Given the description of an element on the screen output the (x, y) to click on. 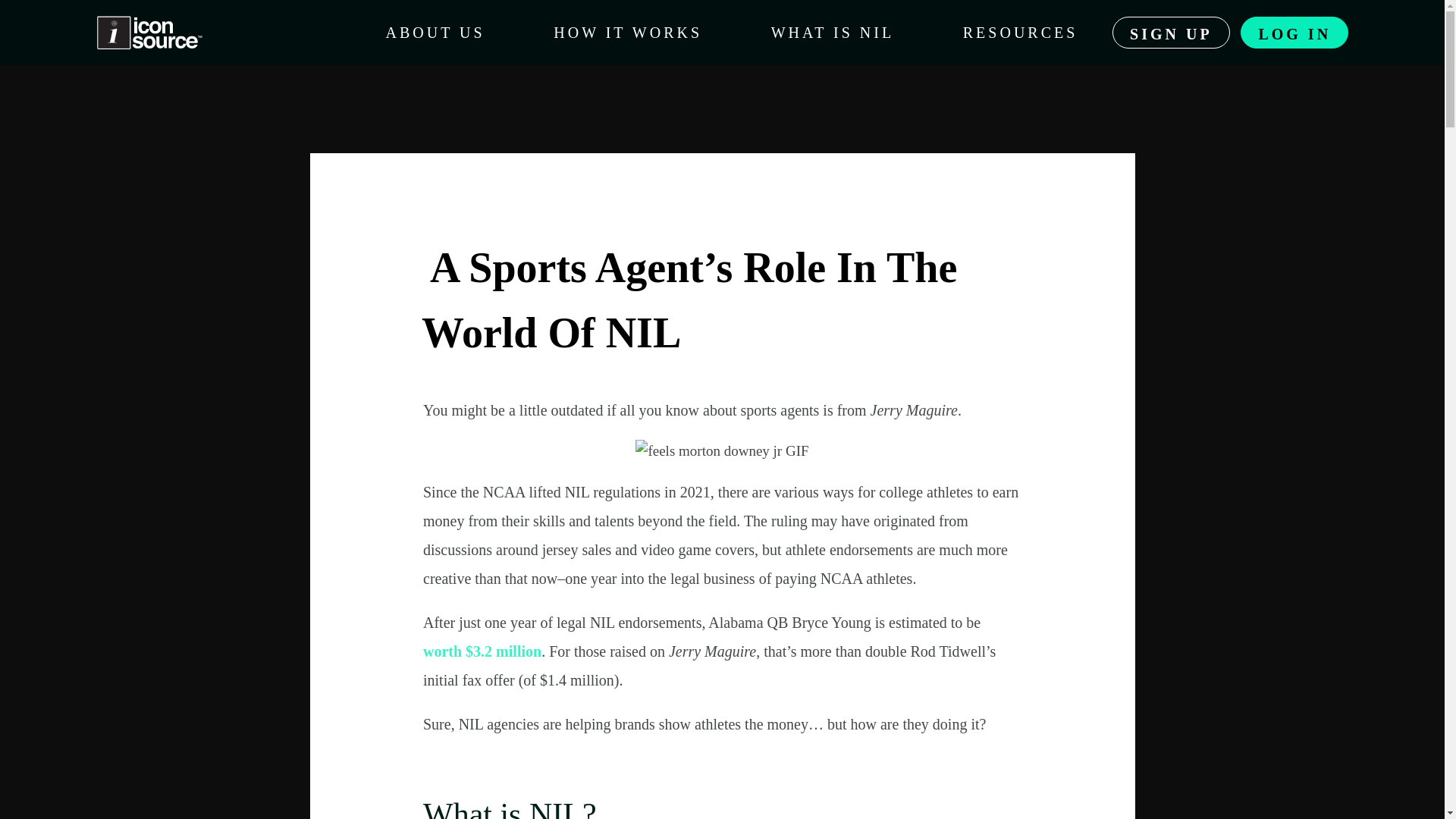
HOW IT WORKS (627, 32)
RESOURCES (1020, 32)
SIGN UP (1171, 31)
ABOUT US (434, 32)
WHAT IS NIL (832, 32)
LOG IN (1294, 31)
